Given the description of an element on the screen output the (x, y) to click on. 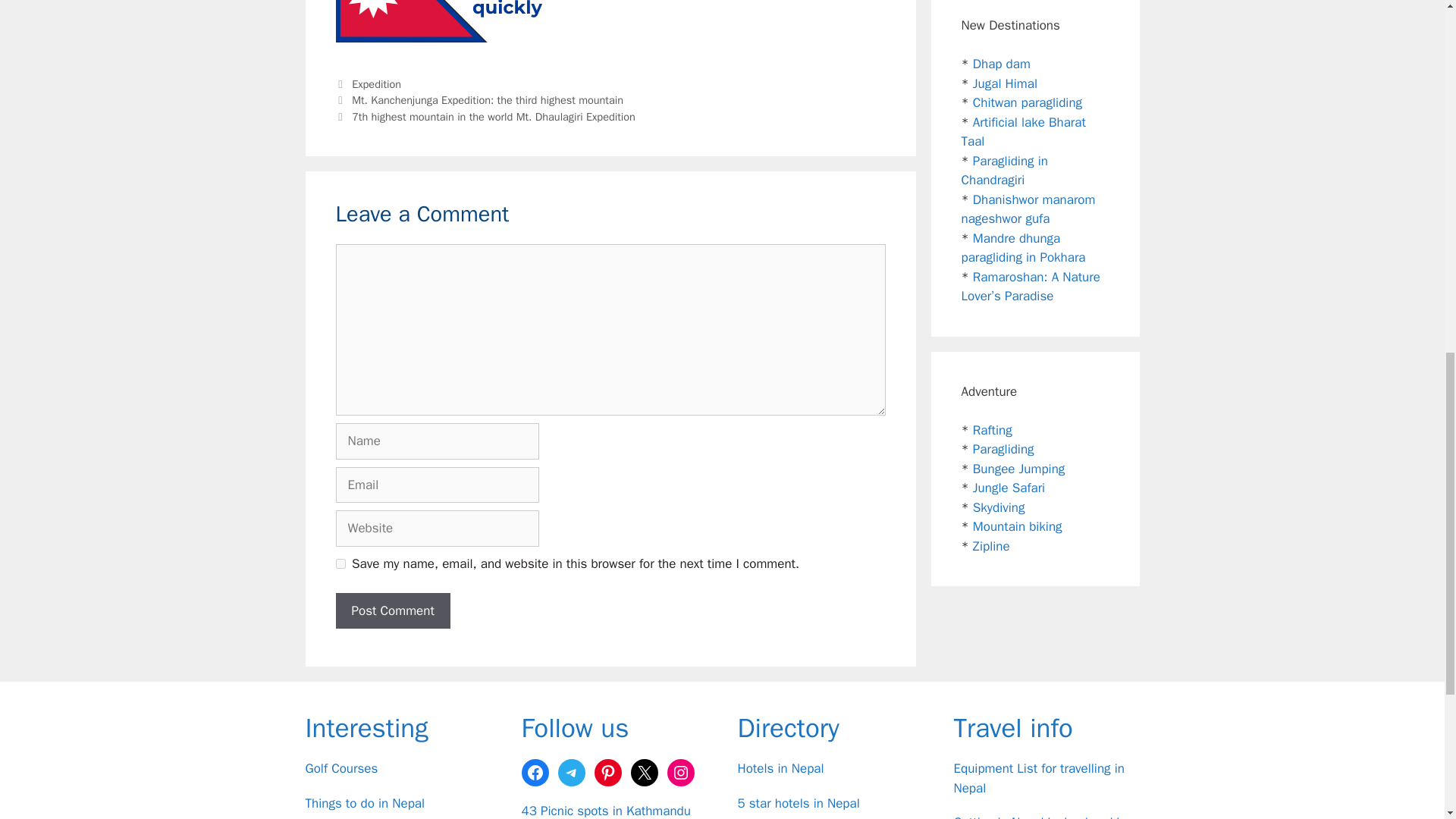
7th highest mountain in the world Mt. Dhaulagiri Expedition (493, 116)
Expedition (376, 83)
Mt. Kanchenjunga Expedition: the third highest mountain (487, 100)
Post Comment (391, 610)
Scroll back to top (1406, 720)
yes (339, 563)
Post Comment (391, 610)
